Given the description of an element on the screen output the (x, y) to click on. 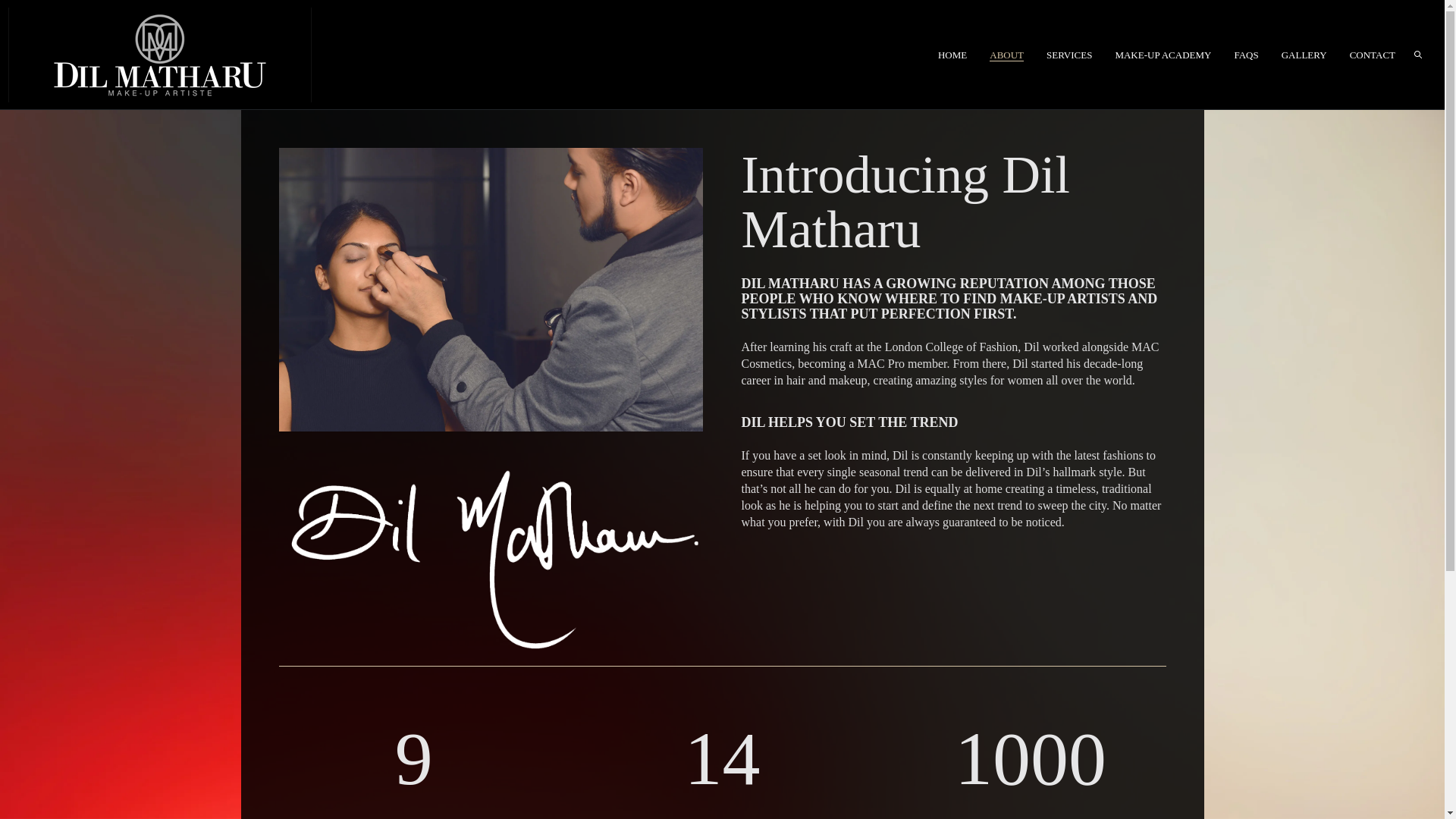
ABOUT (1006, 54)
GALLERY (1303, 54)
SERVICES (1069, 54)
CONTACT (1371, 54)
MAKE-UP ACADEMY (1163, 54)
